Given the description of an element on the screen output the (x, y) to click on. 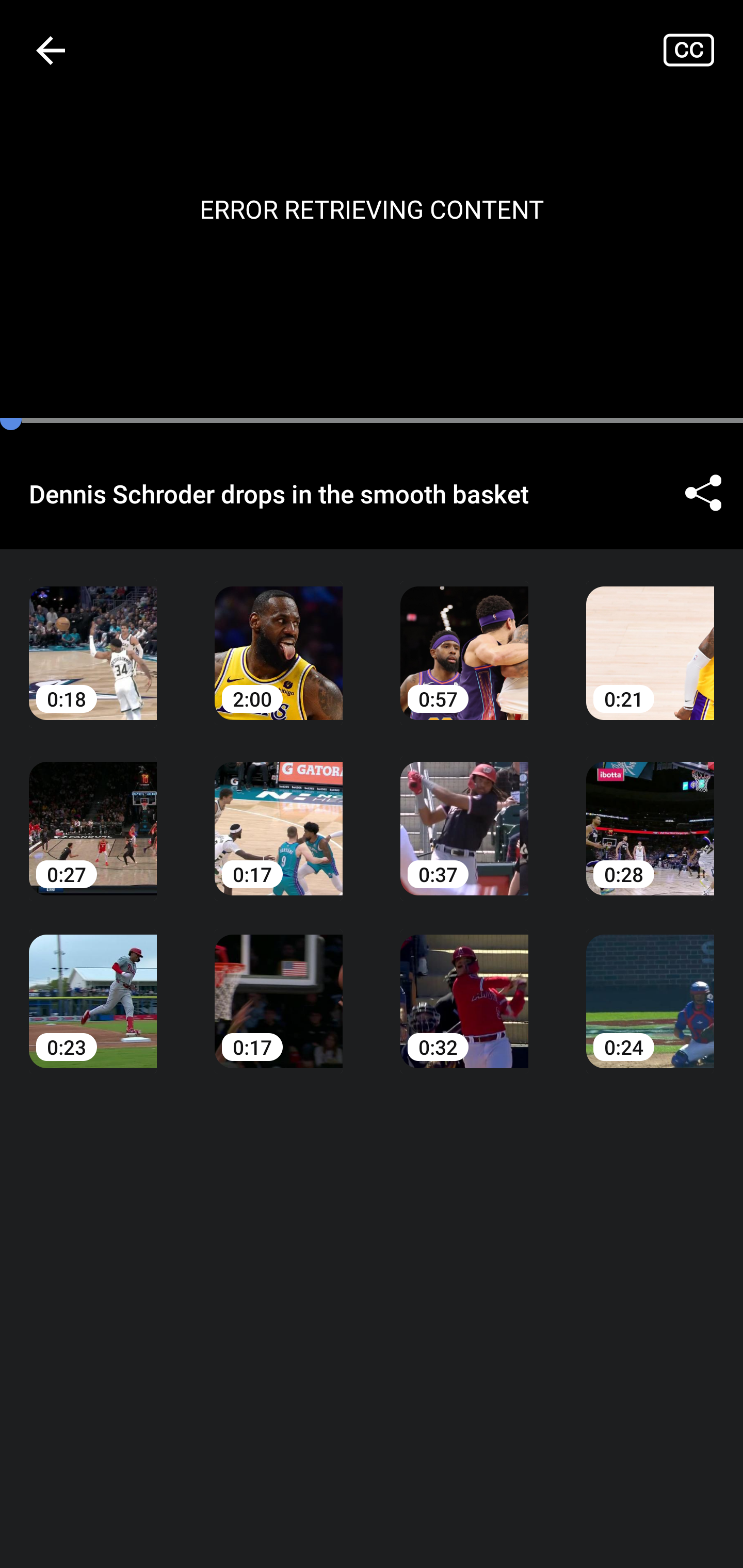
Navigate up (50, 50)
Closed captions  (703, 49)
Share © (703, 493)
0:18 (92, 637)
2:00 (278, 637)
0:57 (464, 637)
0:21 (650, 637)
0:27 (92, 813)
0:17 (278, 813)
0:37 (464, 813)
0:28 (650, 813)
0:23 (92, 987)
0:17 (278, 987)
0:32 (464, 987)
0:24 (650, 987)
